Given the description of an element on the screen output the (x, y) to click on. 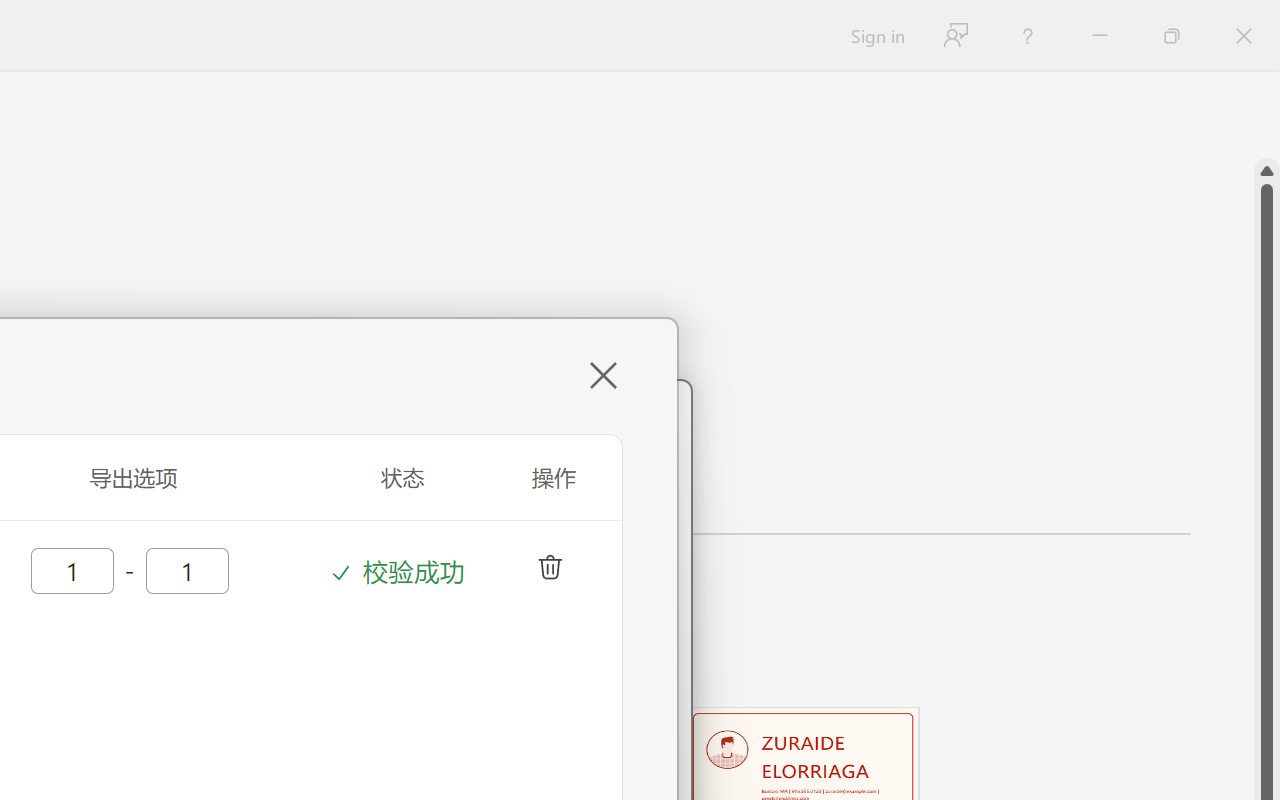
Line up (1267, 171)
AutomationID: input36 (70, 569)
deleteColumn (548, 563)
AutomationID: input44 (185, 569)
